Given the description of an element on the screen output the (x, y) to click on. 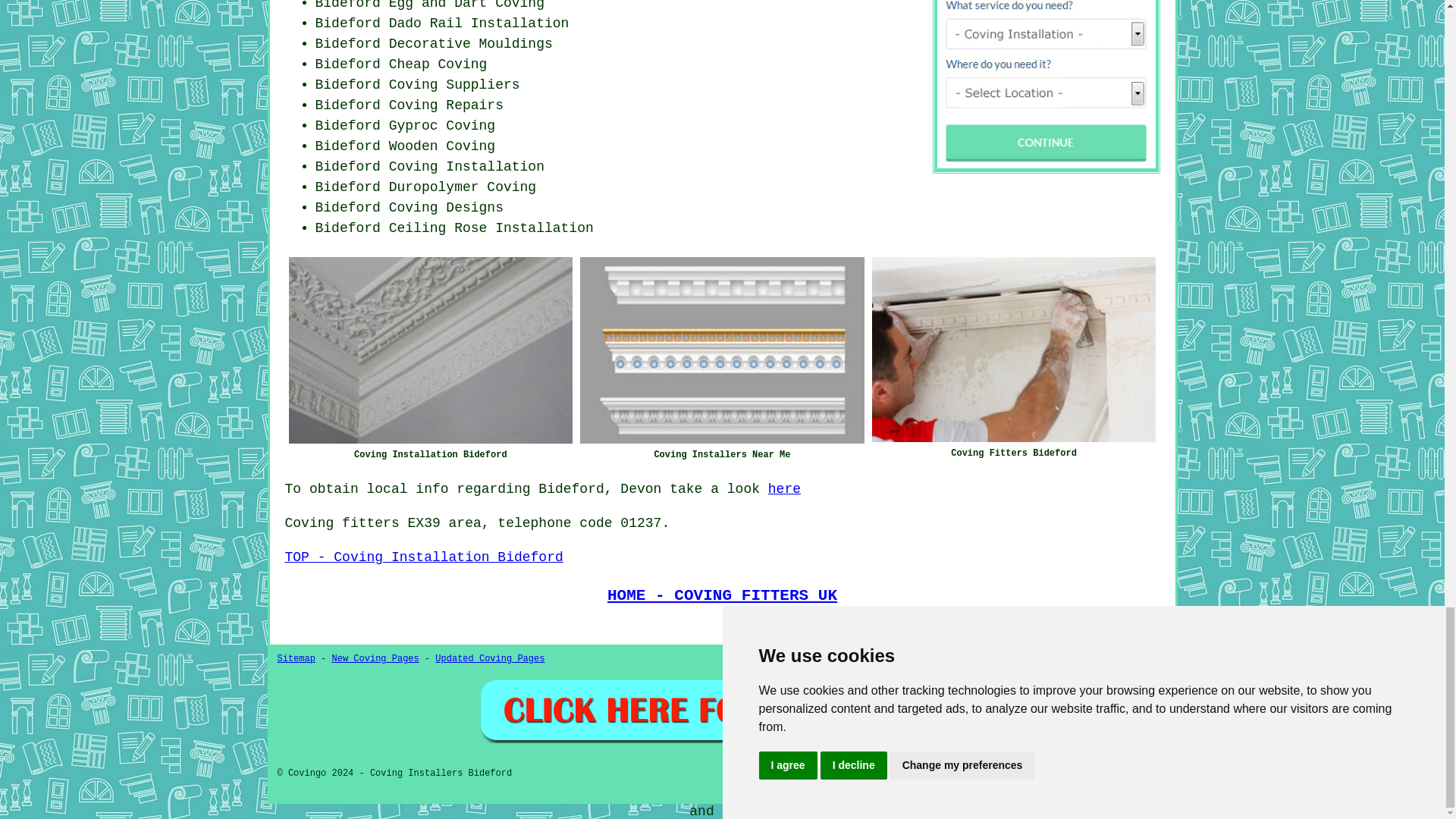
Coving Installation Bideford (430, 349)
Coving Installers Near Me Bideford Devon (721, 349)
